Given the description of an element on the screen output the (x, y) to click on. 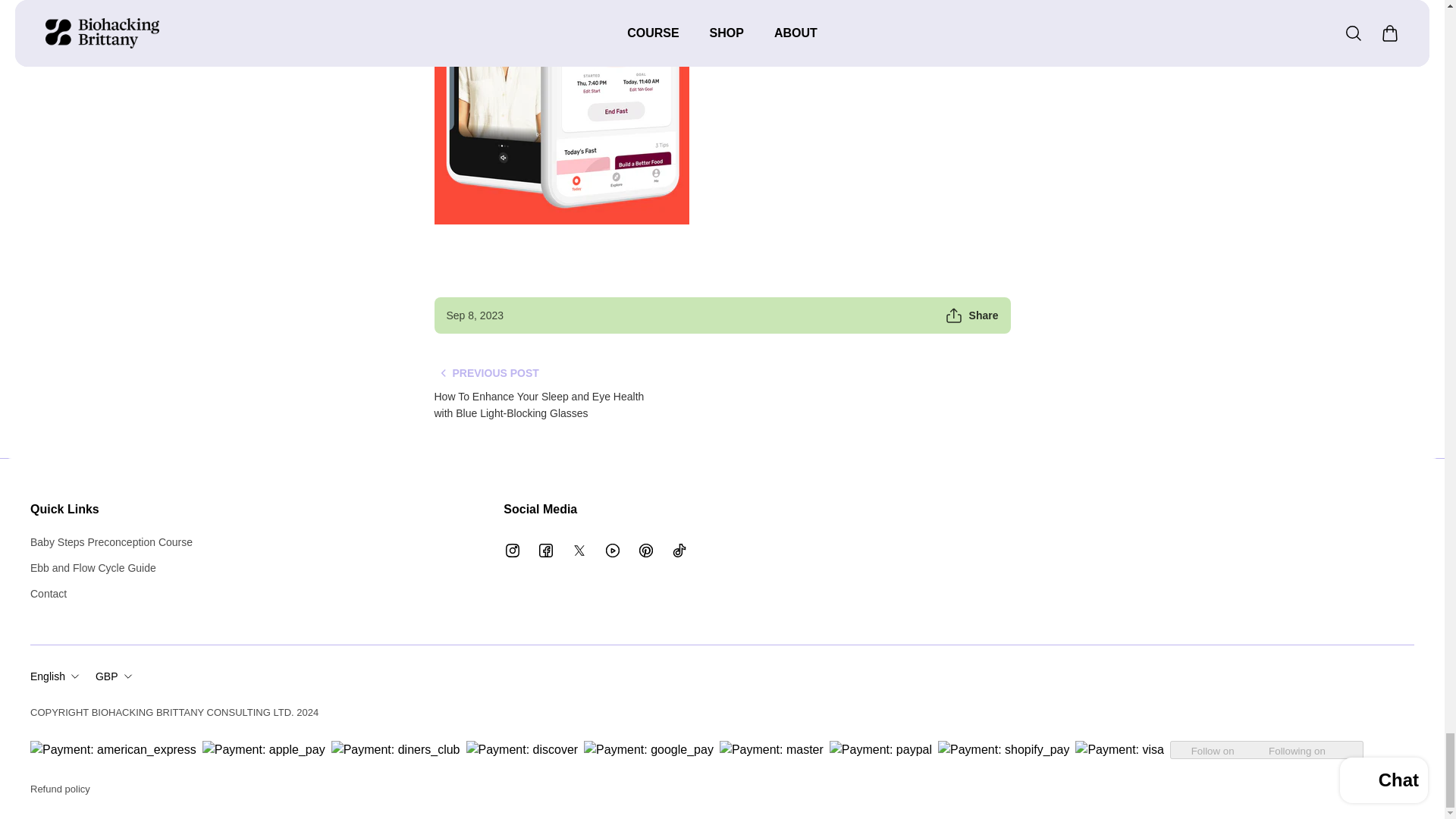
Contact (111, 593)
Baby Steps Preconception Course (111, 541)
Refund policy (60, 789)
Ebb and Flow Cycle Guide (111, 567)
PREVIOUS POST (485, 372)
